Given the description of an element on the screen output the (x, y) to click on. 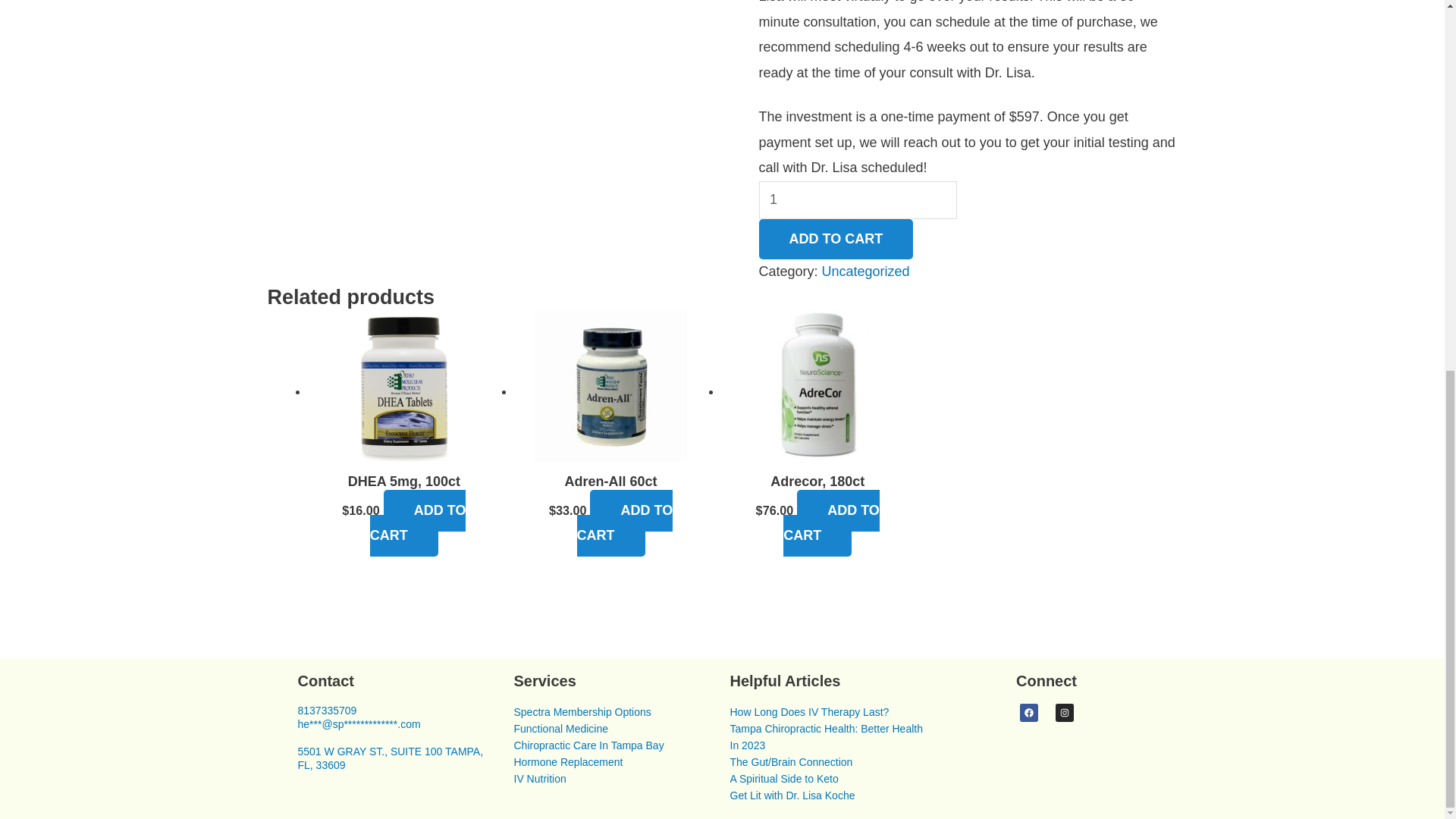
Spectra Membership Options (581, 711)
A Spiritual Side to Keto (783, 778)
Tampa Chiropractic Health: Better Health In 2023 (825, 736)
IV Nutrition (539, 778)
Chiropractic Care In Tampa Bay (588, 745)
Functional Medicine (560, 728)
Hormone Replacement (568, 761)
Get Lit with Dr. Lisa Koche (791, 795)
